Given the description of an element on the screen output the (x, y) to click on. 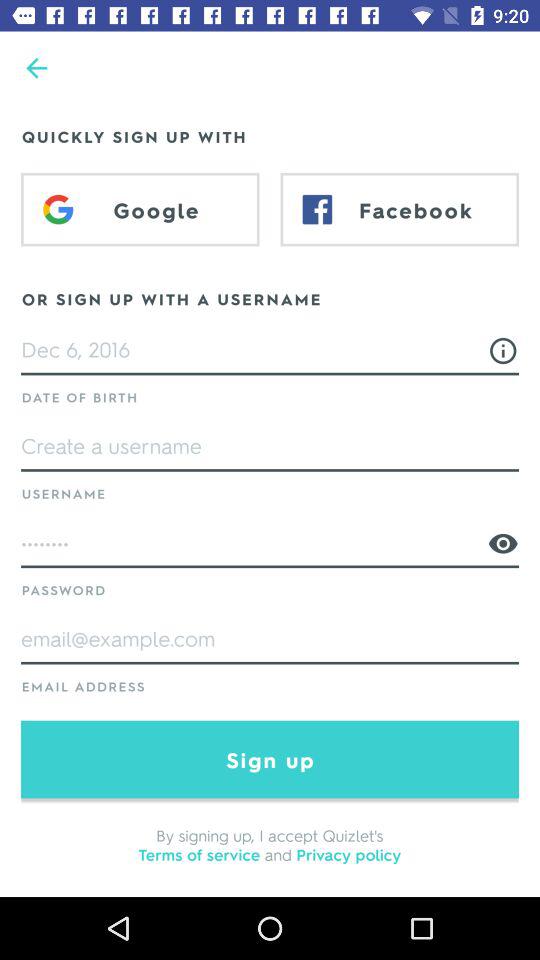
click icon to the right of google icon (399, 209)
